Given the description of an element on the screen output the (x, y) to click on. 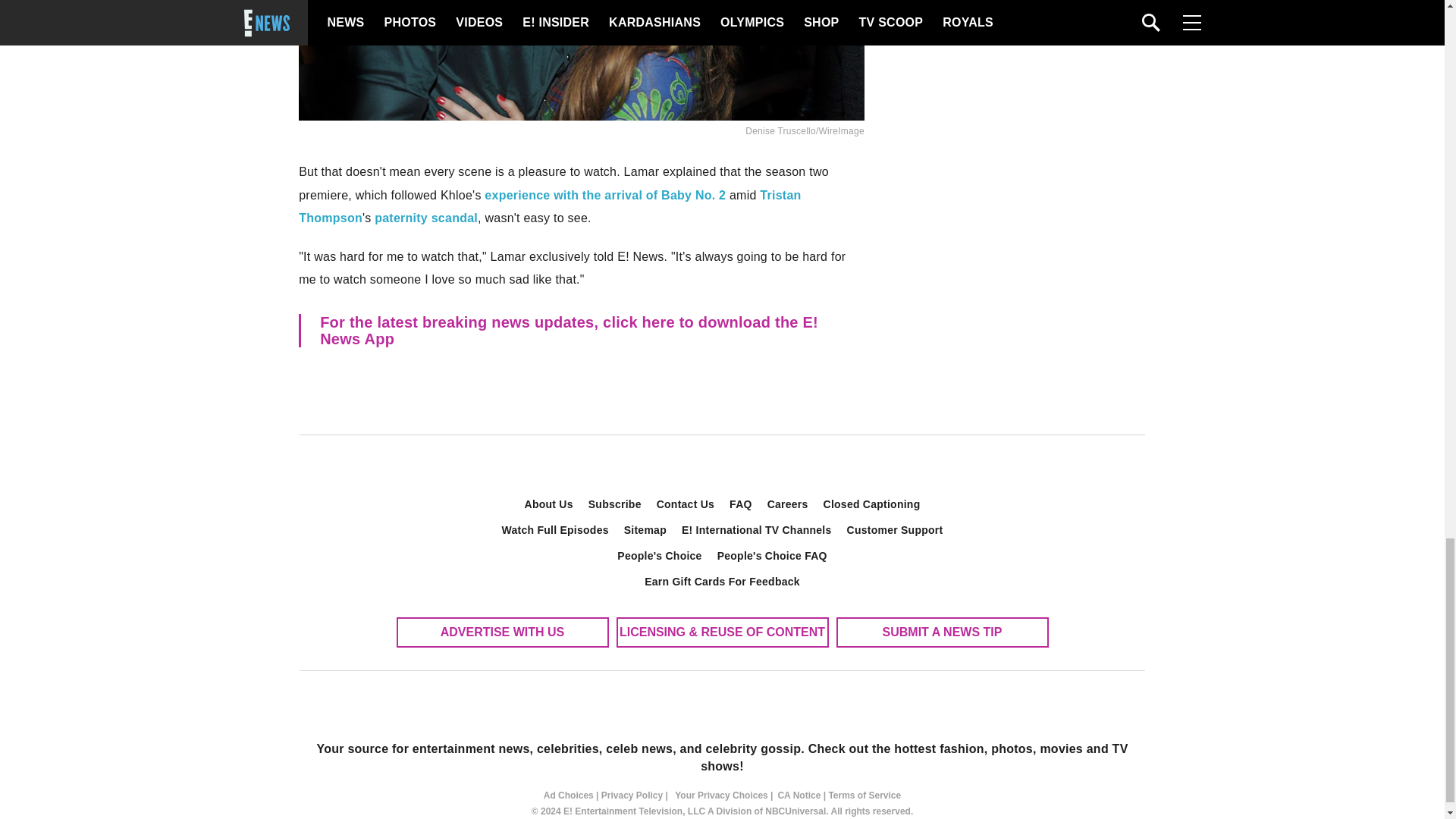
paternity scandal (425, 217)
Tristan Thompson (549, 206)
experience with the arrival of Baby No. 2 (604, 195)
